Given the description of an element on the screen output the (x, y) to click on. 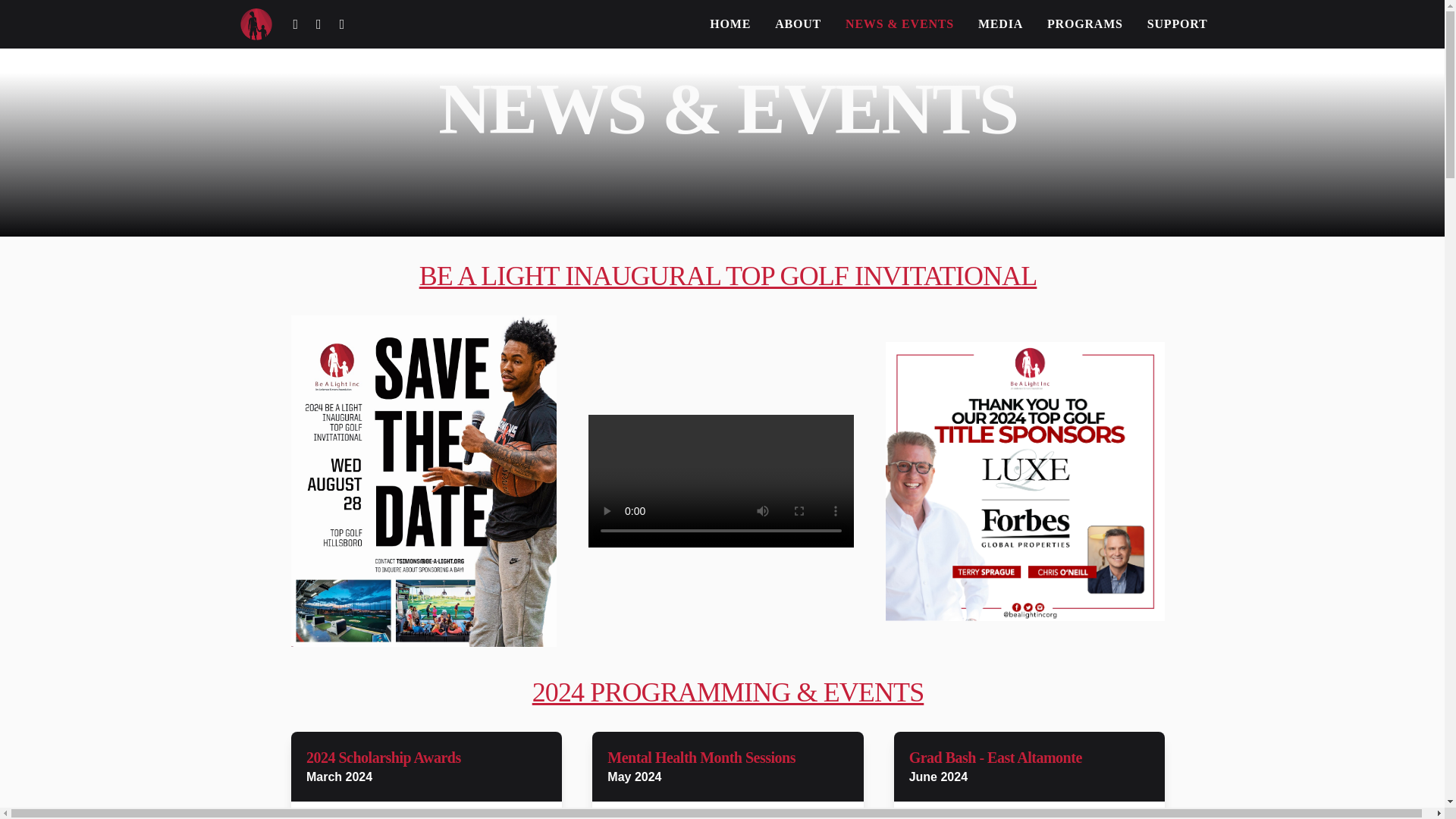
MEDIA (988, 24)
SUPPORT (1165, 24)
HOME (718, 24)
PROGRAMS (1072, 24)
ABOUT (786, 24)
